Given the description of an element on the screen output the (x, y) to click on. 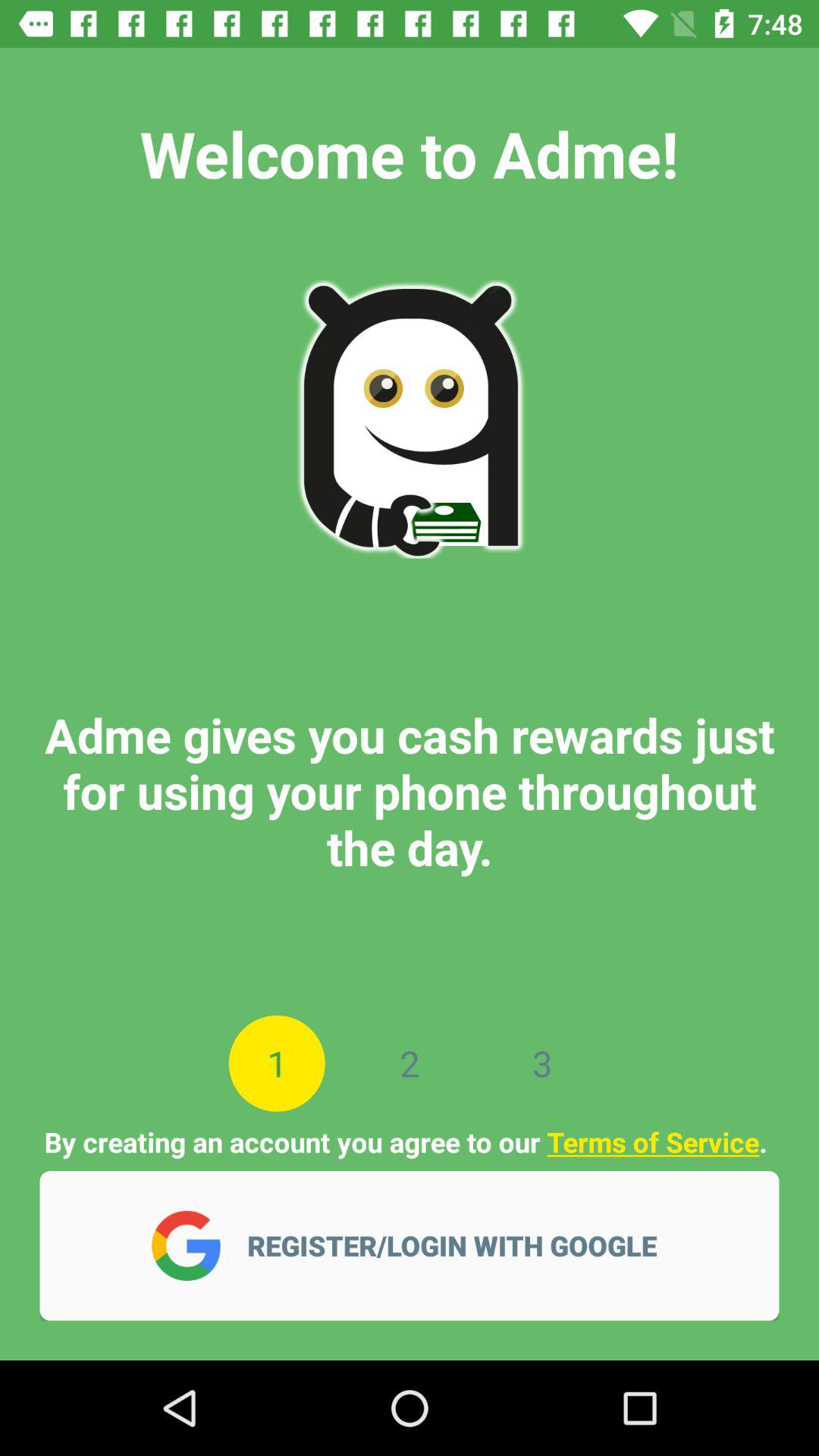
tap icon next to the 2 item (276, 1063)
